Given the description of an element on the screen output the (x, y) to click on. 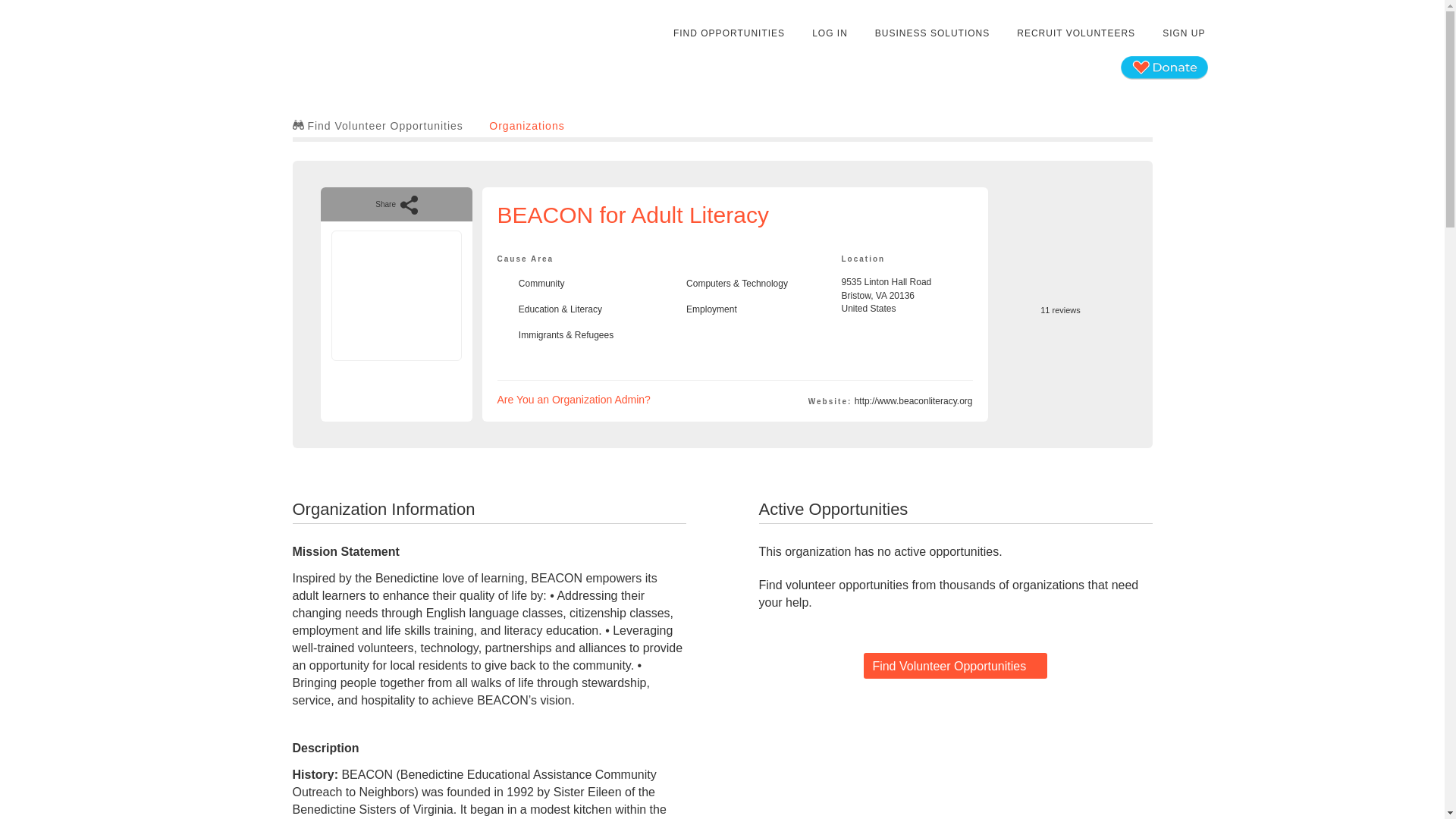
11 reviews (1059, 303)
BUSINESS SOLUTIONS (931, 32)
LOG IN (829, 32)
RECRUIT VOLUNTEERS (1075, 32)
SIGN UP (1183, 32)
Find Volunteer Opportunities (377, 125)
Organizations (526, 125)
Find Volunteer Opportunities (573, 399)
FIND OPPORTUNITIES (954, 665)
